Given the description of an element on the screen output the (x, y) to click on. 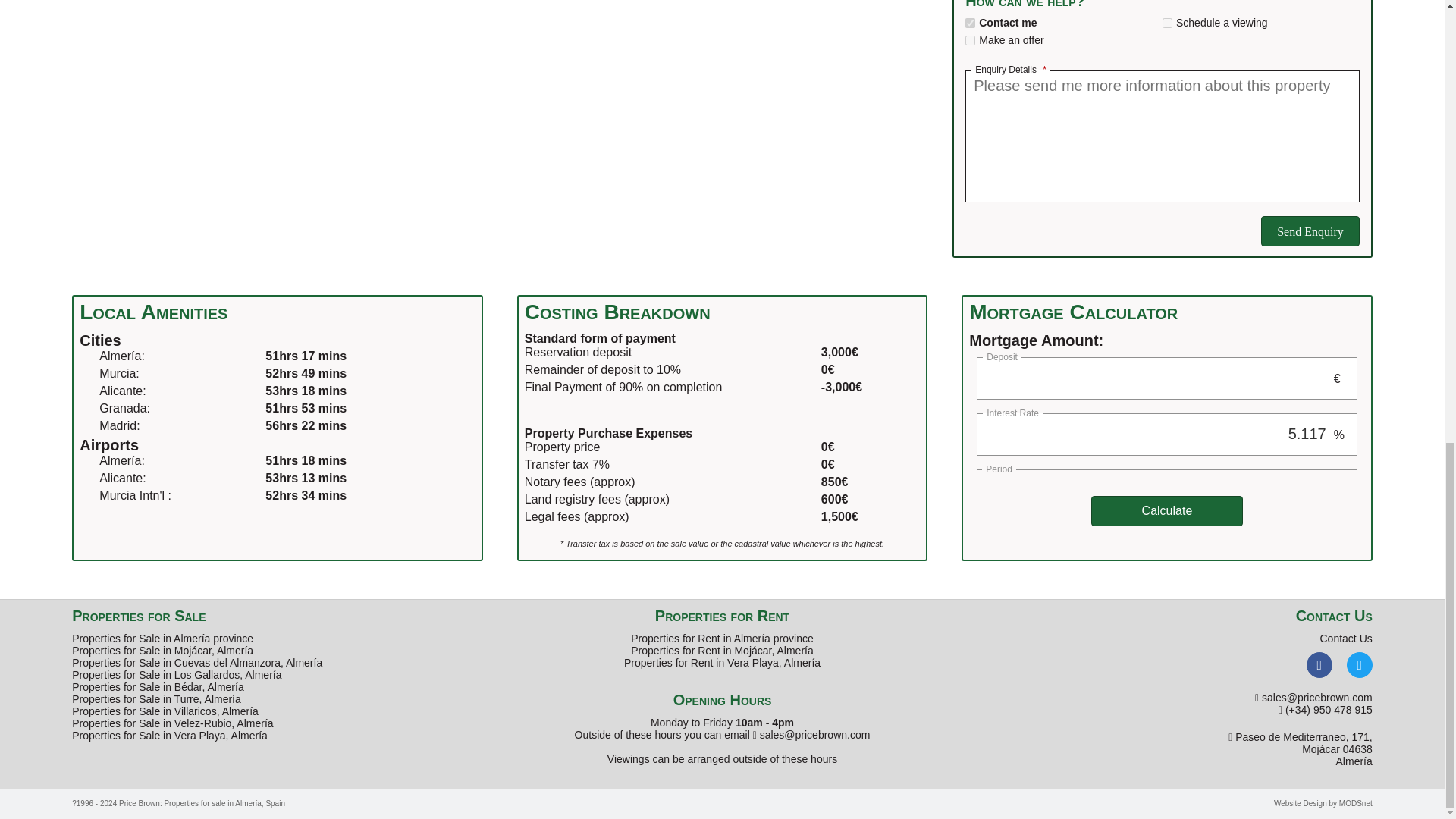
1 (970, 22)
1 (970, 40)
Calculate (1166, 511)
5.117 (1154, 433)
1 (1166, 22)
